Given the description of an element on the screen output the (x, y) to click on. 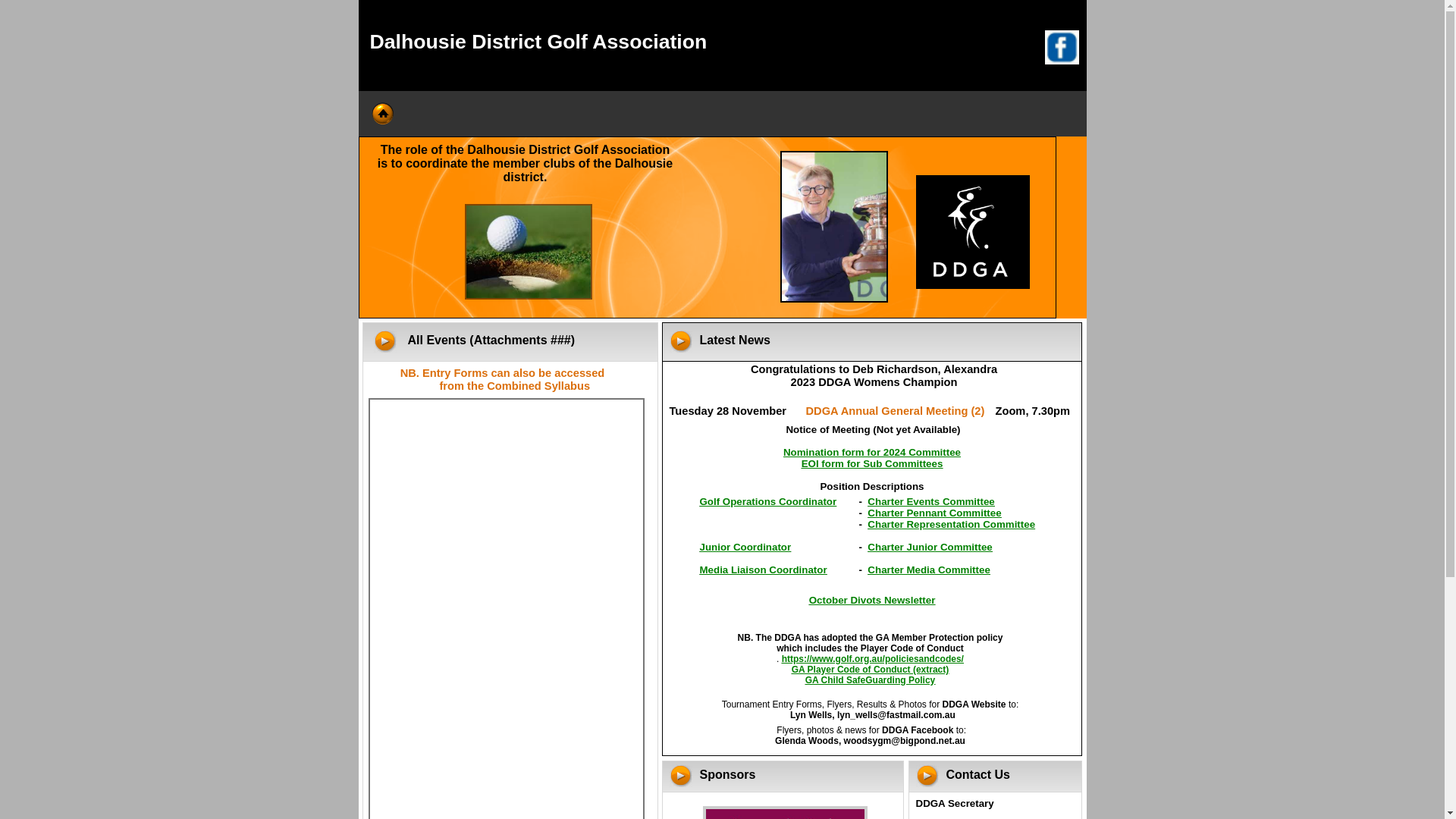
Charter Pennant Committee Element type: text (934, 511)
Nomination form for 2024 Committee Element type: text (871, 451)
Golf Operations Coordinator Element type: text (767, 500)
Charter Events Committee Element type: text (930, 500)
EOI form for Sub Committees Element type: text (872, 462)
https://www.golf.org.au/policiesandcodes/ Element type: text (872, 657)
GA Child SafeGuarding Policy Element type: text (870, 678)
Charter Media Committee Element type: text (928, 568)
GA Player Code of Conduct (extract) Element type: text (870, 668)
October Divots Newsletter Element type: text (872, 599)
Charter Representation Committee Element type: text (951, 523)
Junior Coordinator Element type: text (744, 545)
Charter Junior Committee Element type: text (929, 545)
Media Liaison Coordinator Element type: text (762, 568)
